Given the description of an element on the screen output the (x, y) to click on. 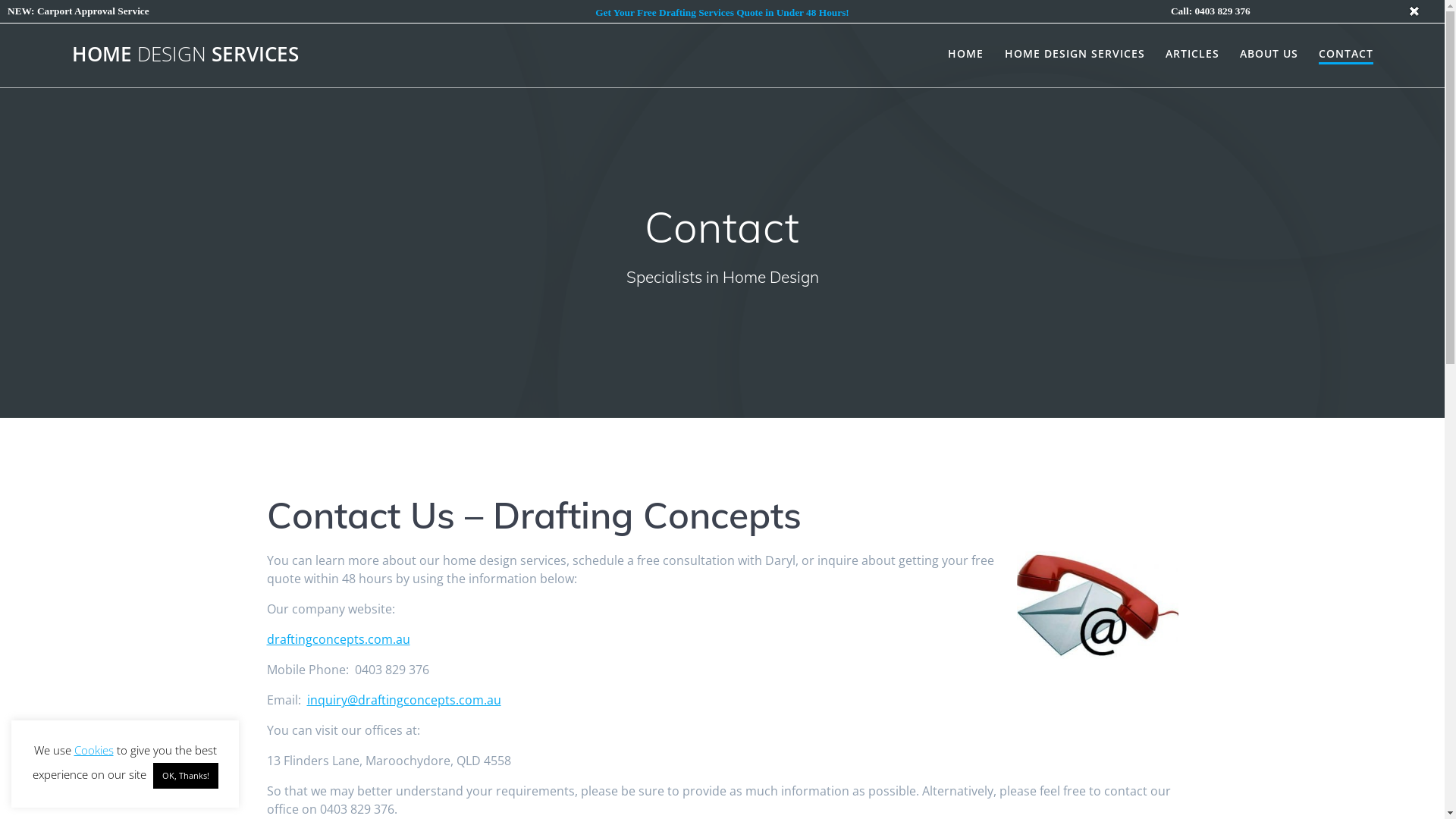
ABOUT US Element type: text (1268, 53)
HOME DESIGN SERVICES Element type: text (185, 54)
Cookies Element type: text (93, 749)
Get Your Free Drafting Services Quote in Under 48 Hours! Element type: text (722, 12)
Optimized.ContactUs Element type: hover (1096, 604)
OK, Thanks! Element type: text (185, 775)
ARTICLES Element type: text (1192, 53)
HOME Element type: text (965, 53)
CONTACT Element type: text (1345, 54)
draftingconcepts.com.au Element type: text (338, 638)
Call: 0403 829 376 Element type: text (1210, 10)
HOME DESIGN SERVICES Element type: text (1074, 53)
NEW: Carport Approval Service Element type: text (78, 10)
inquiry@draftingconcepts.com.au Element type: text (403, 699)
